Given the description of an element on the screen output the (x, y) to click on. 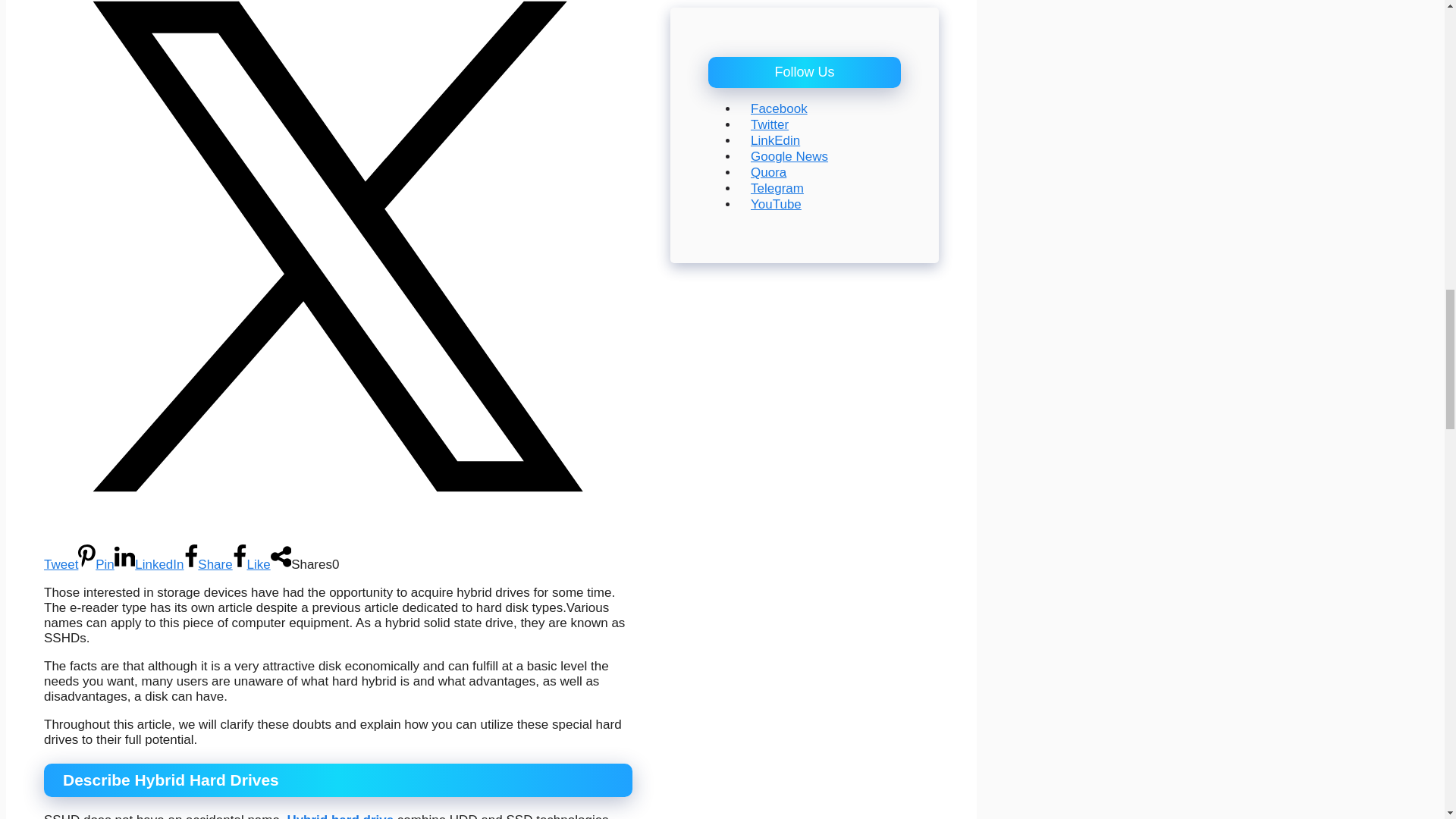
Like on Facebook (251, 564)
Share (207, 564)
Share on Facebook (207, 564)
Share on Twitter (337, 550)
Share on LinkedIn (149, 564)
Pin (95, 564)
Hybrid hard drive (339, 816)
LinkedIn (149, 564)
Share on Pinterest (95, 564)
Tweet (337, 550)
